Given the description of an element on the screen output the (x, y) to click on. 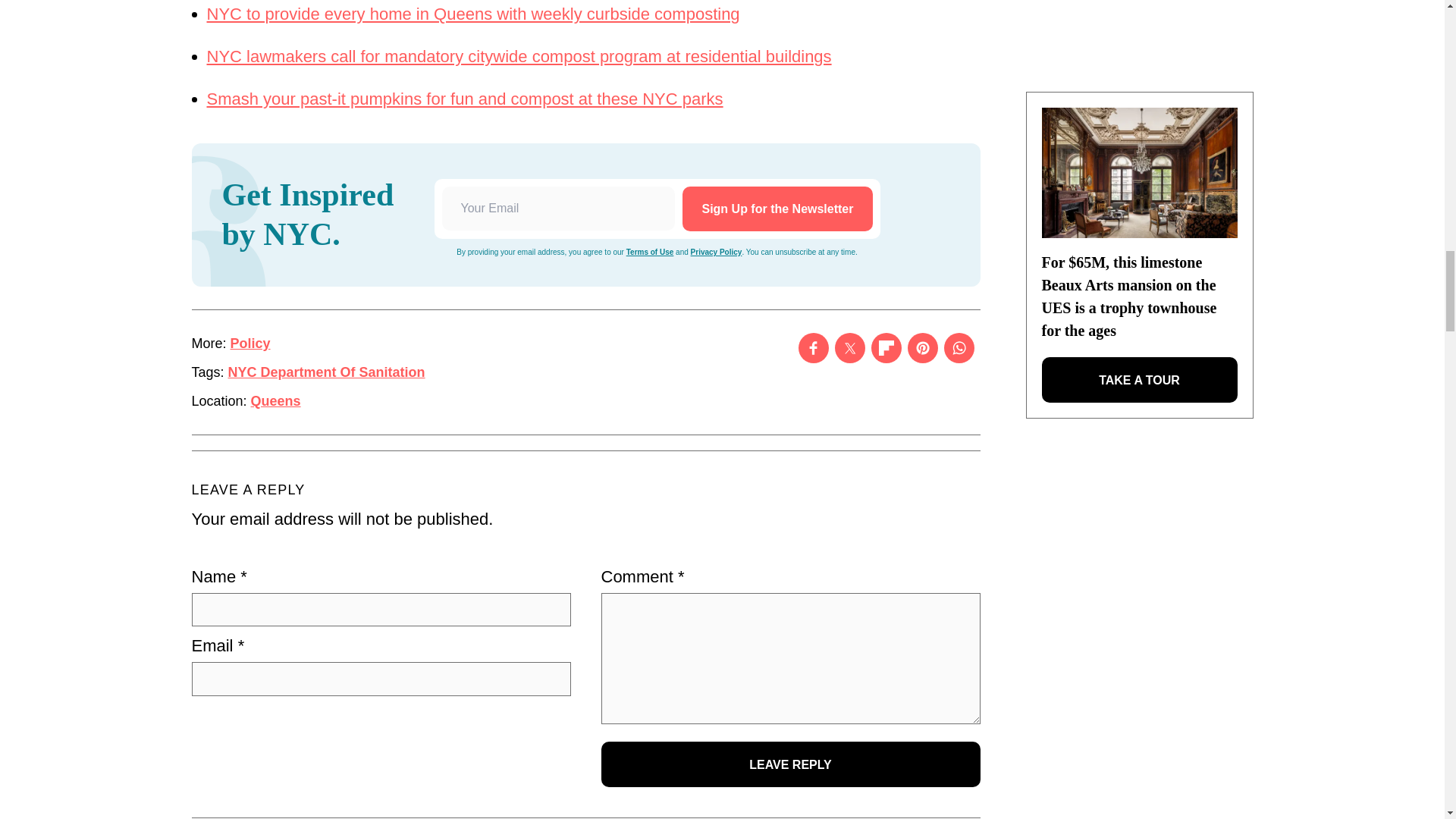
Leave Reply (789, 764)
Terms of Use (650, 252)
Sign Up for the Newsletter (777, 208)
Sign Up for the Newsletter (777, 208)
Privacy Policy (716, 252)
